Given the description of an element on the screen output the (x, y) to click on. 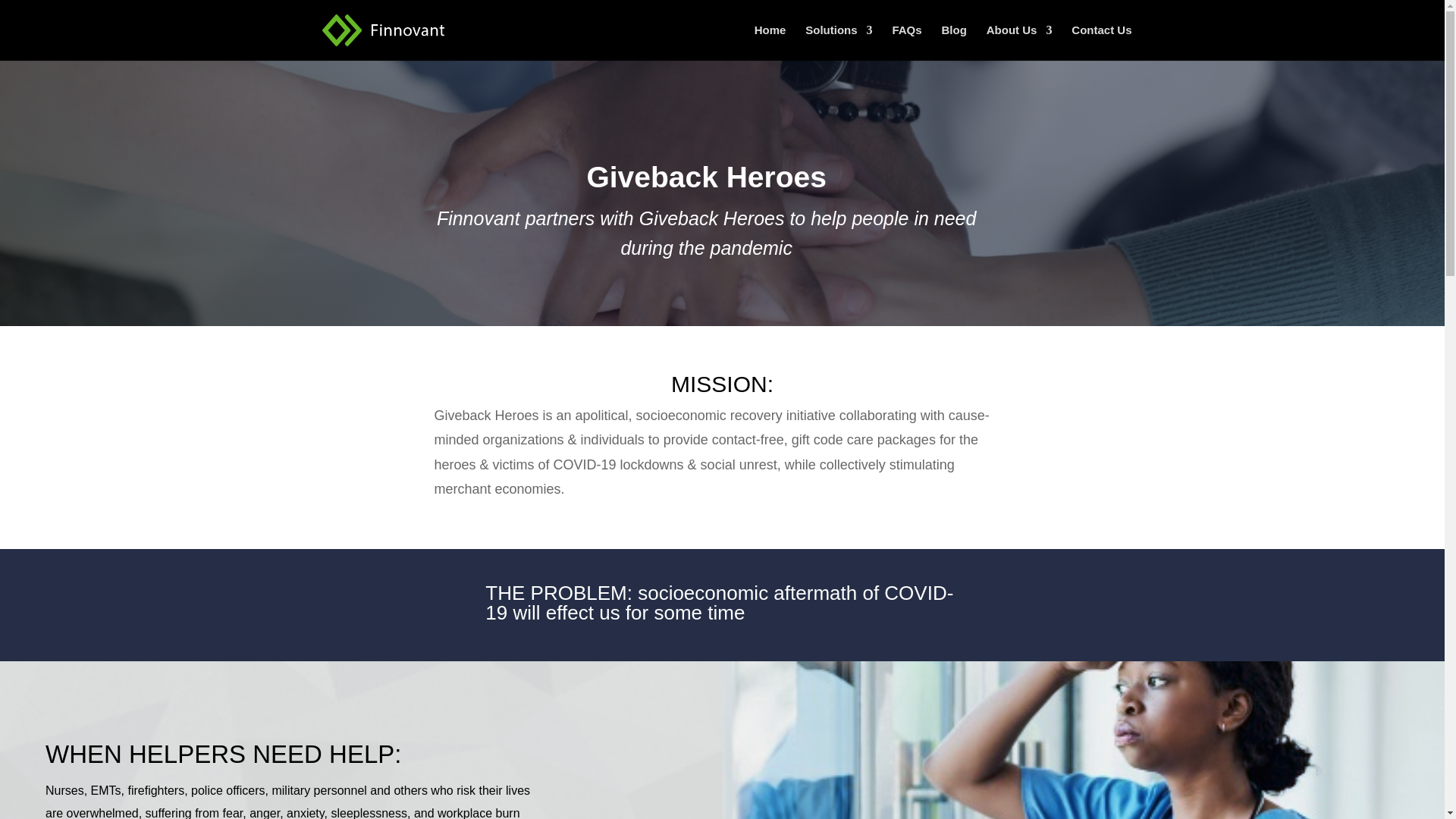
About Us (1019, 42)
Contact Us (1101, 42)
Solutions (838, 42)
Home (770, 42)
